Given the description of an element on the screen output the (x, y) to click on. 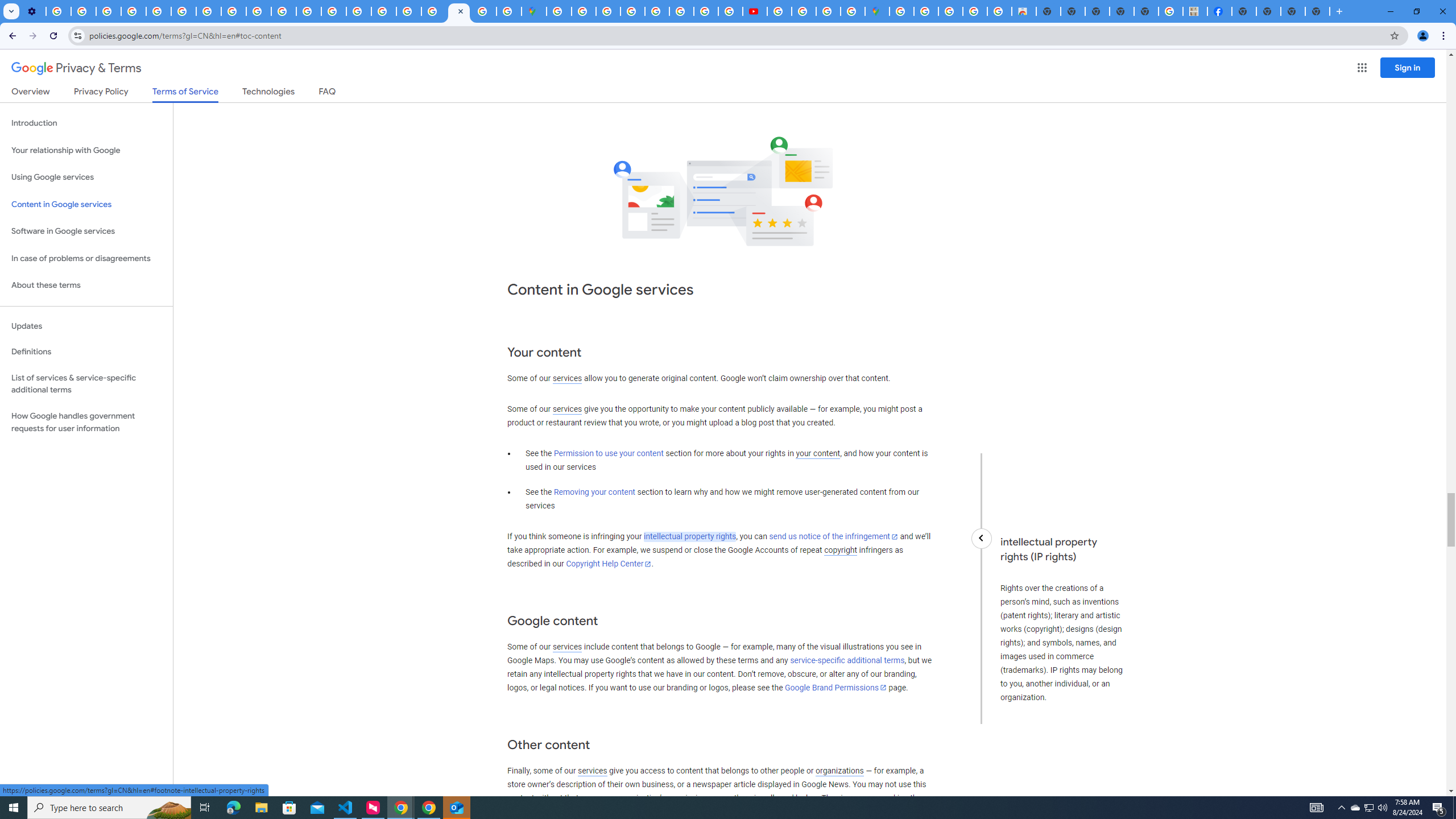
Content in Google services (86, 204)
Permission to use your content (608, 453)
New Tab (1243, 11)
